Given the description of an element on the screen output the (x, y) to click on. 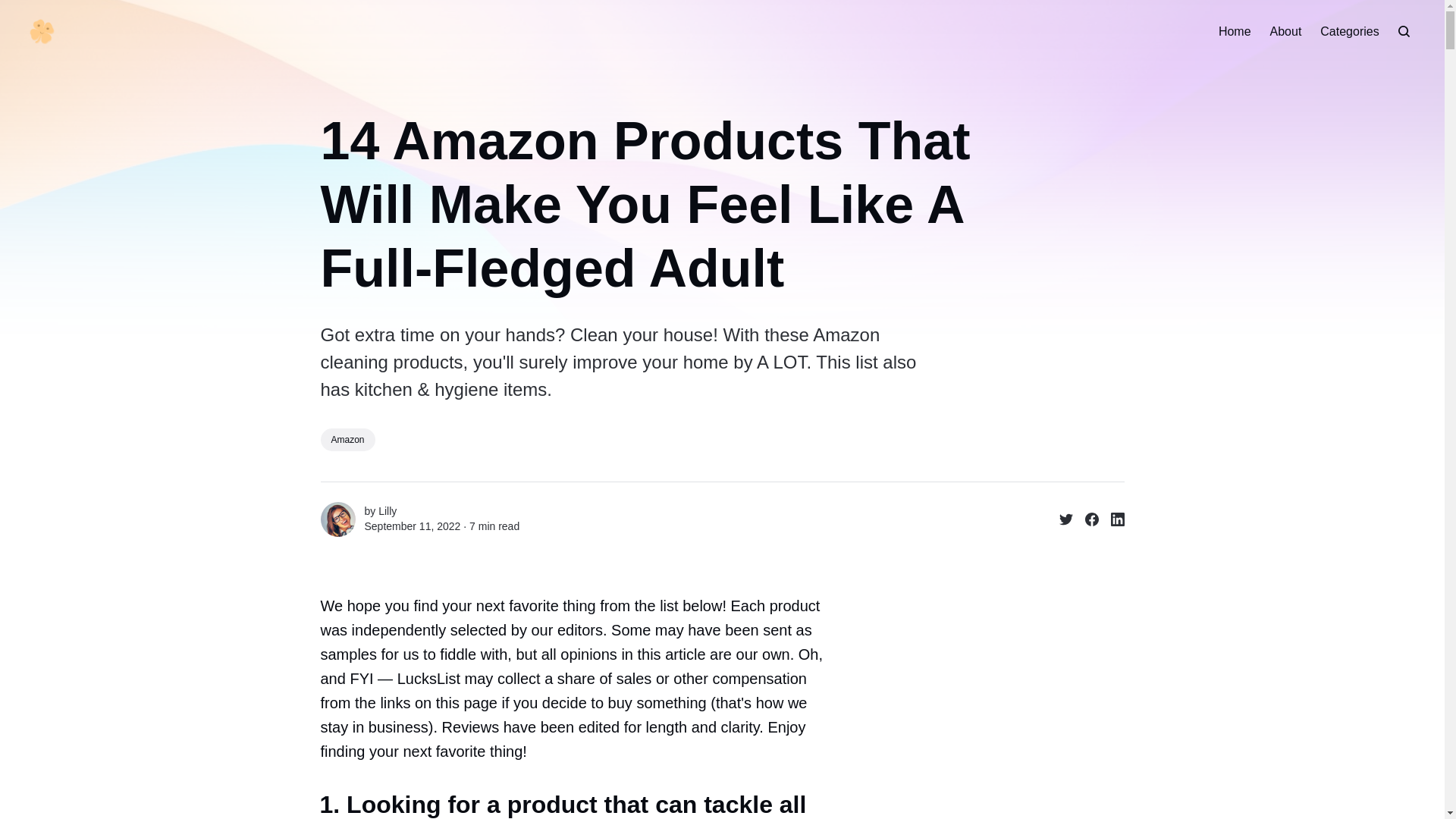
Lilly (337, 519)
Lilly (387, 510)
About (1285, 31)
Amazon (347, 439)
Categories (1349, 31)
Home (1234, 31)
